Given the description of an element on the screen output the (x, y) to click on. 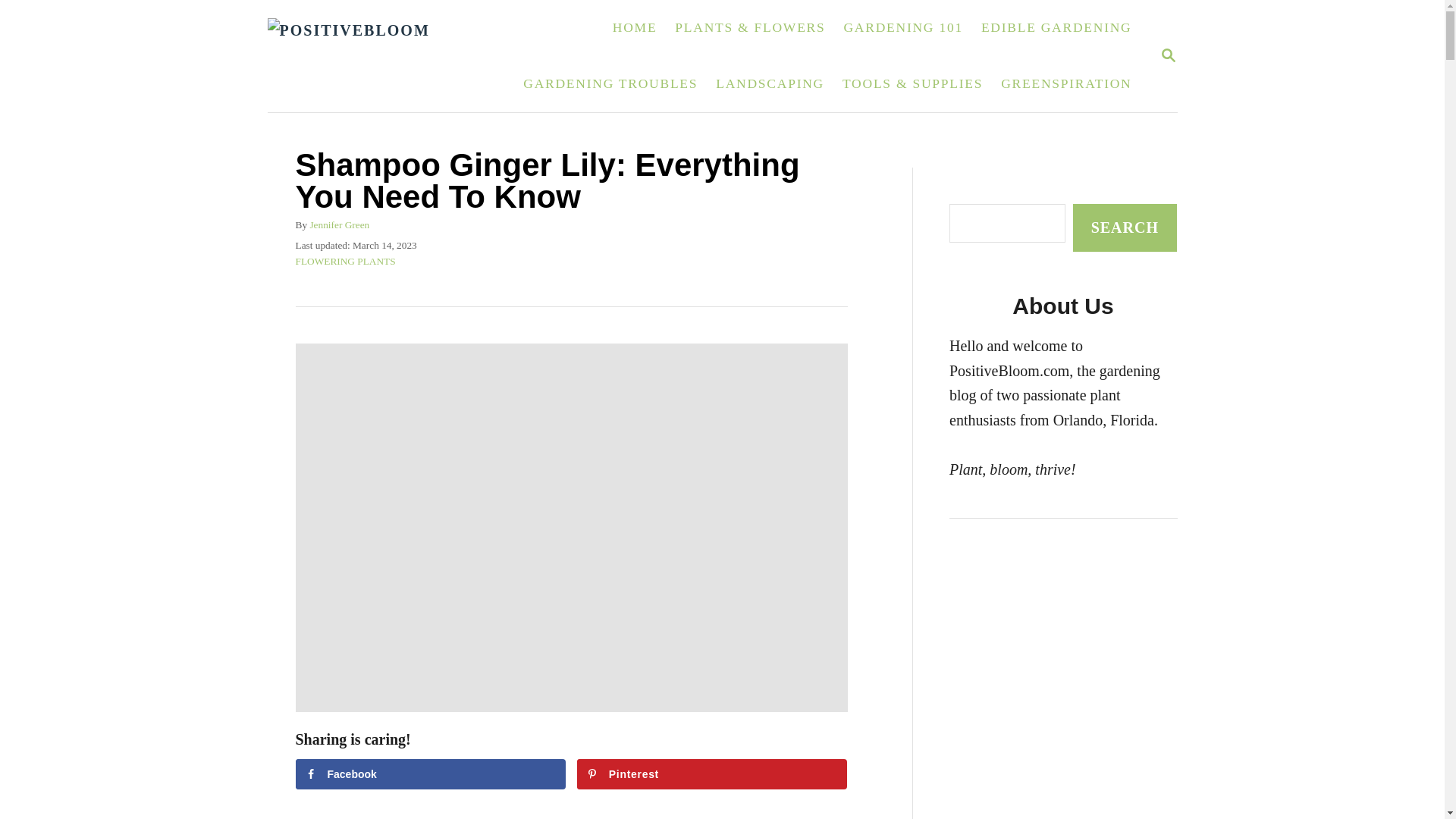
HOME (635, 27)
Save to Pinterest (1167, 55)
MAGNIFYING GLASS (711, 774)
GARDENING 101 (1167, 54)
EDIBLE GARDENING (902, 27)
Share on Facebook (1056, 27)
GARDENING TROUBLES (430, 774)
LANDSCAPING (609, 83)
Positivebloom (769, 83)
